Given the description of an element on the screen output the (x, y) to click on. 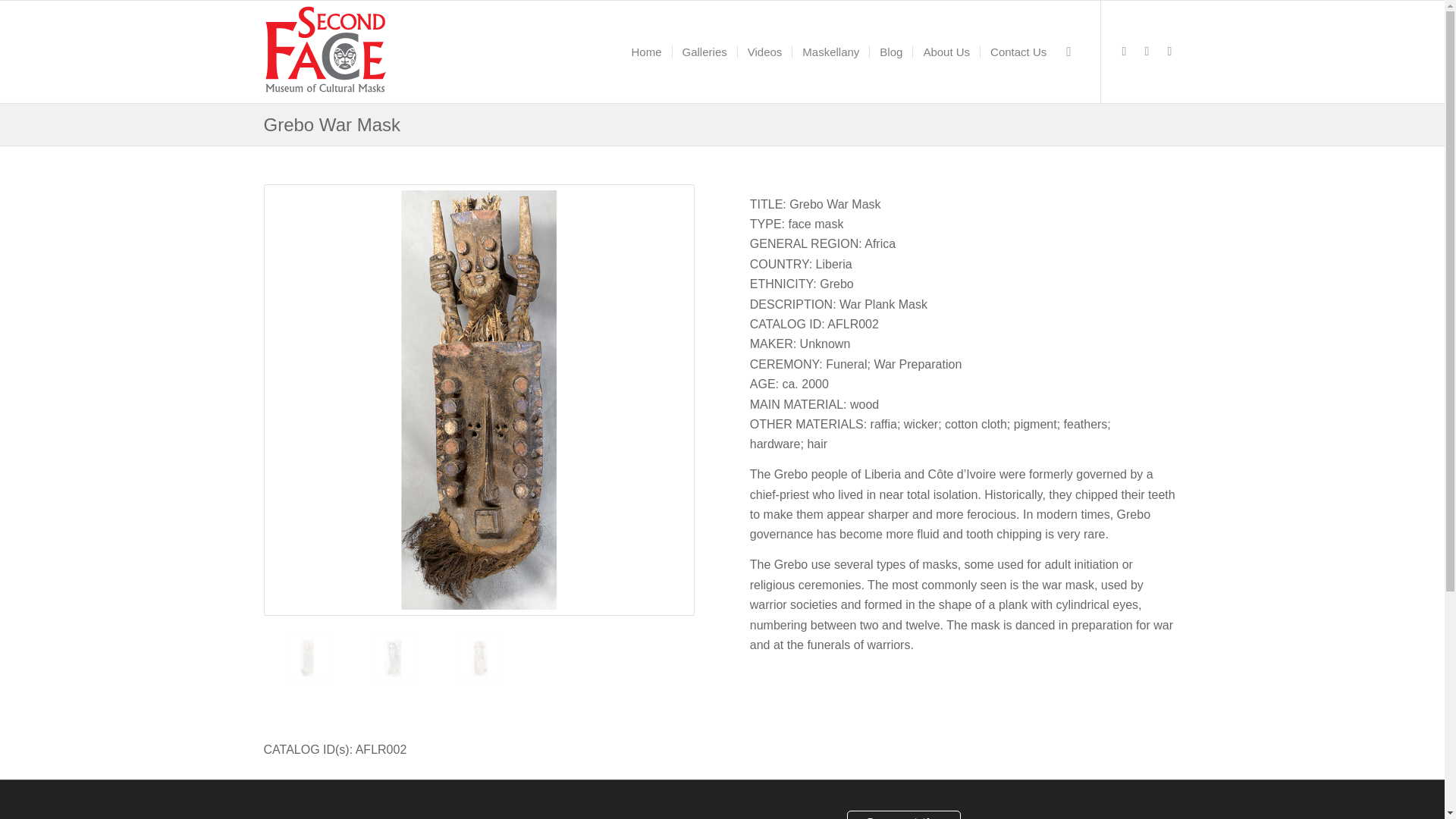
Africa - Liberia - Grebo Plank 1a (306, 658)
Youtube (1146, 50)
Facebook (1124, 50)
Africa - Liberia - Grebo Plank 1b (392, 658)
Africa - Liberia - Grebo Plank 1a (328, 679)
Africa - Liberia - Grebo Plank 1b (414, 679)
Africa - Liberia - Grebo Plank 1c (478, 658)
sf-website-logo (325, 51)
Africa - Liberia - Grebo Plank 1c (500, 679)
Instagram (1169, 50)
Permanent Link: Grebo War Mask (331, 124)
Grebo War Mask (331, 124)
sf-website-logo (325, 51)
